Given the description of an element on the screen output the (x, y) to click on. 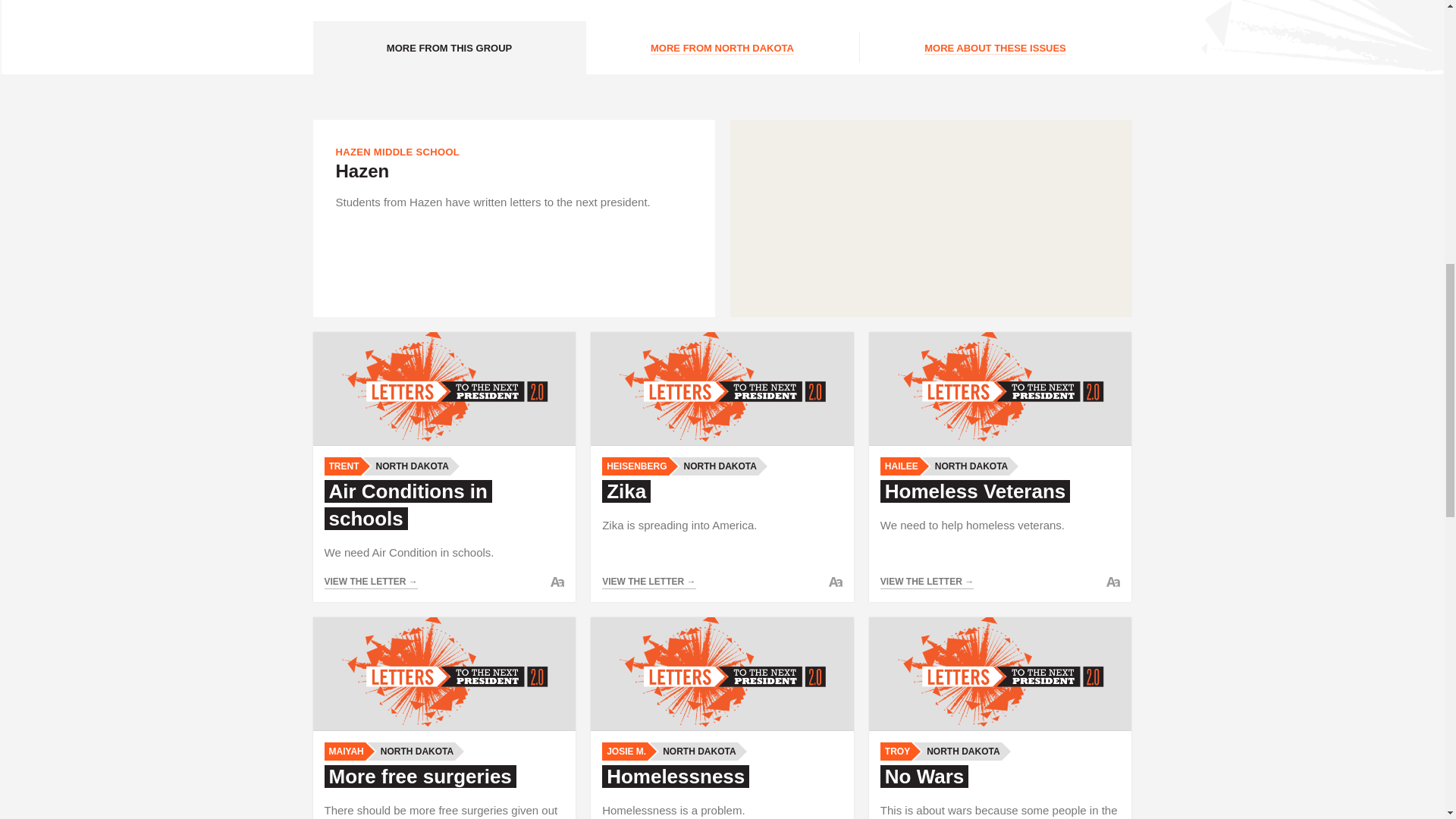
MORE ABOUT THESE ISSUES (995, 47)
MORE FROM NORTH DAKOTA (722, 47)
MORE FROM THIS GROUP (449, 47)
HAZEN MIDDLE SCHOOL (397, 152)
